Given the description of an element on the screen output the (x, y) to click on. 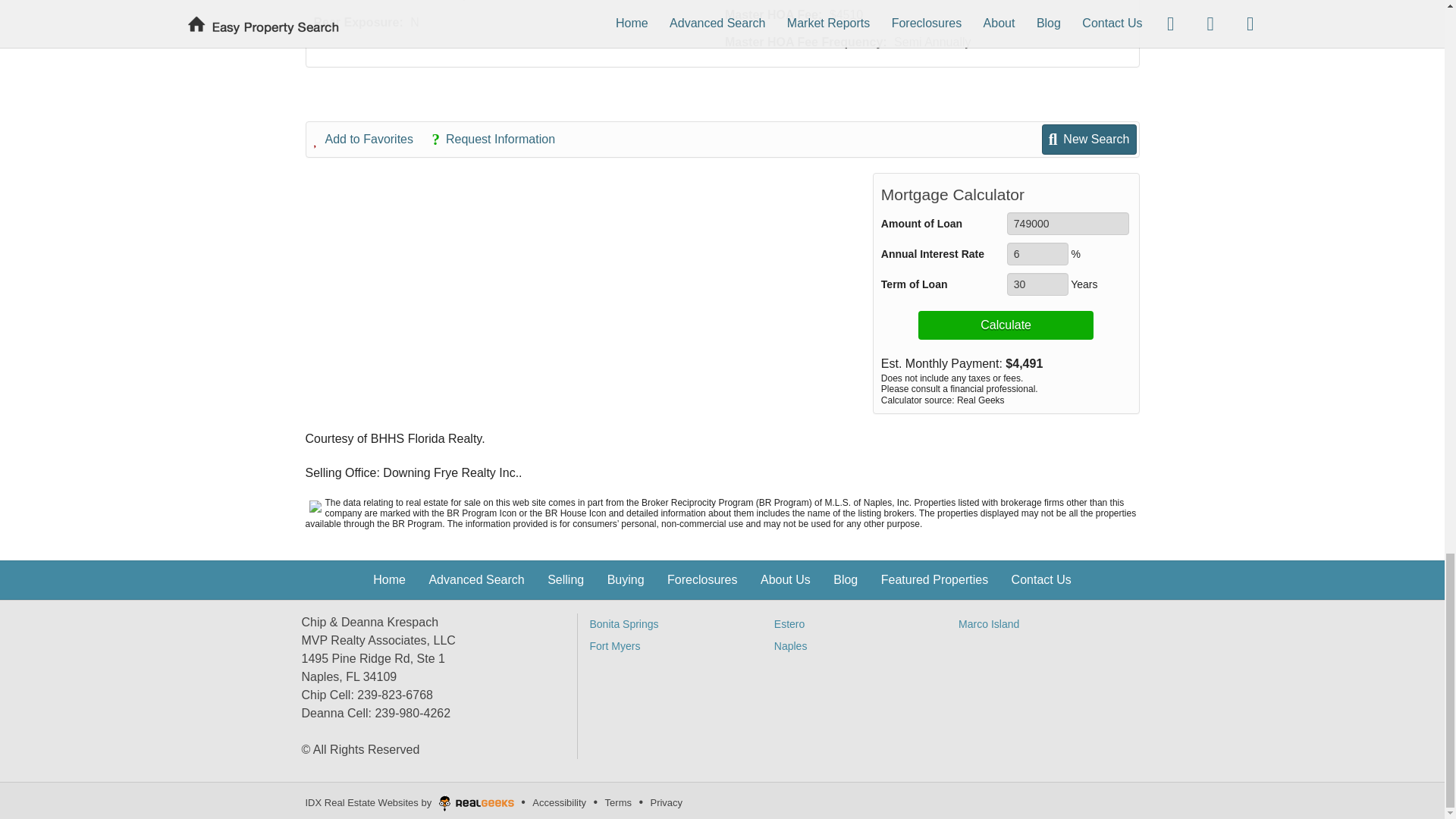
30 (1037, 283)
6 (1037, 253)
749000 (1068, 223)
